Given the description of an element on the screen output the (x, y) to click on. 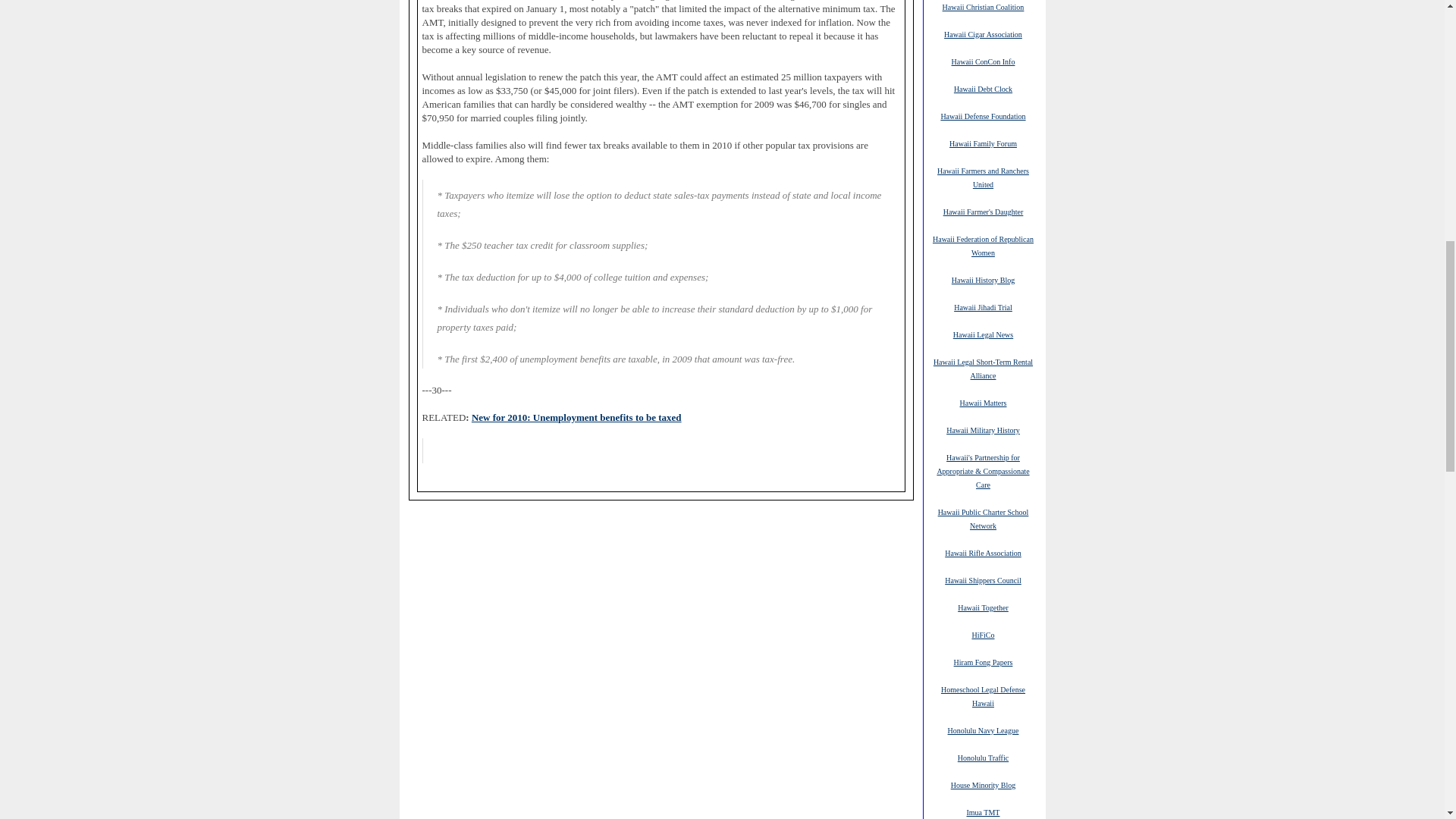
New for 2010: Unemployment benefits to be taxed (576, 417)
Hawaii Cigar Association (982, 33)
Hawaii Family Forum (982, 143)
Hawaii Debt Clock (982, 88)
Hawaii Christian Coalition (983, 6)
Hawaii Defense Foundation (982, 115)
Hawaii ConCon Info (983, 61)
